Given the description of an element on the screen output the (x, y) to click on. 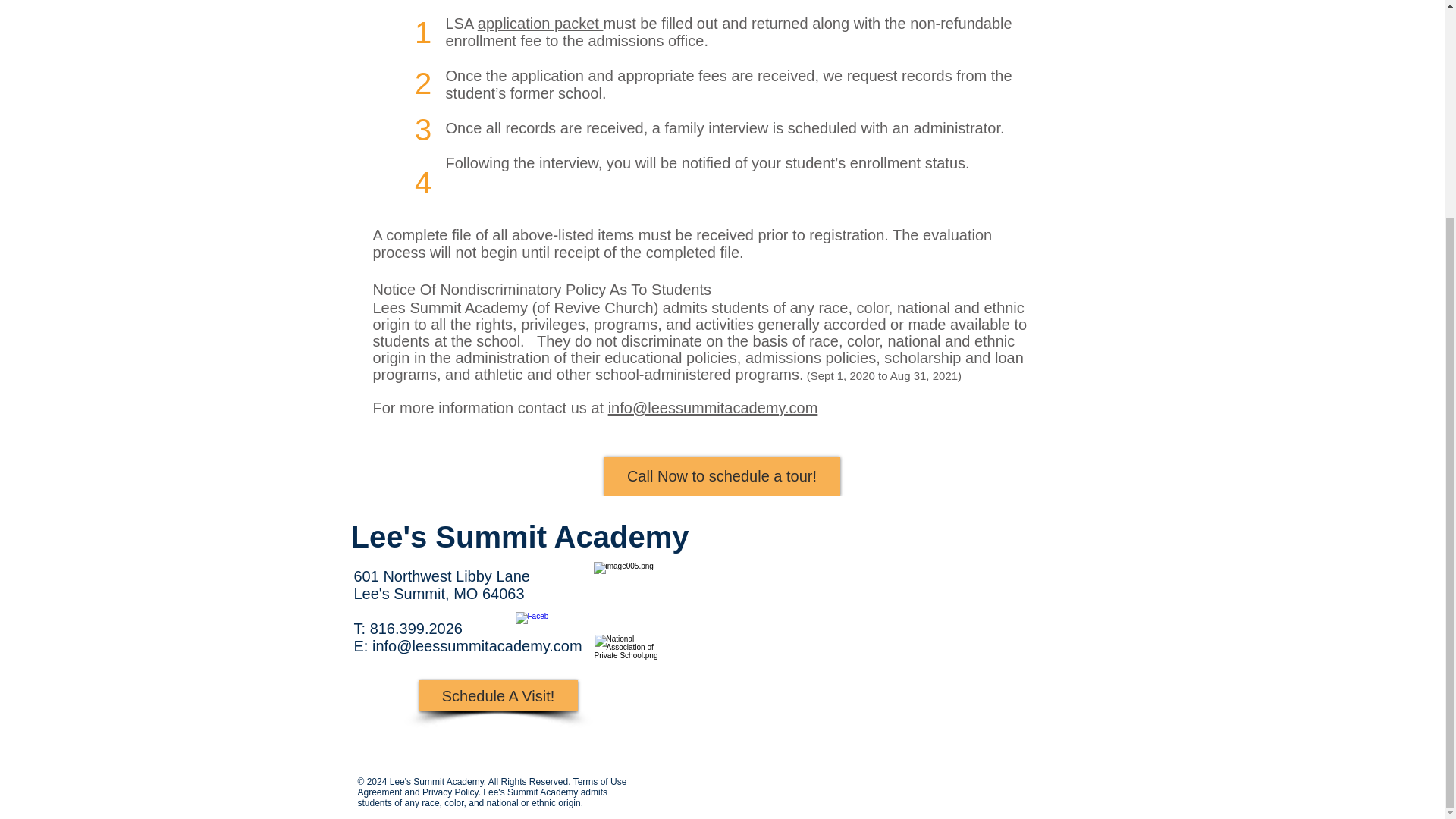
Call Now to schedule a tour! (722, 476)
Schedule A Visit! (497, 695)
816.399.2026 (416, 628)
application packet  (540, 23)
